Given the description of an element on the screen output the (x, y) to click on. 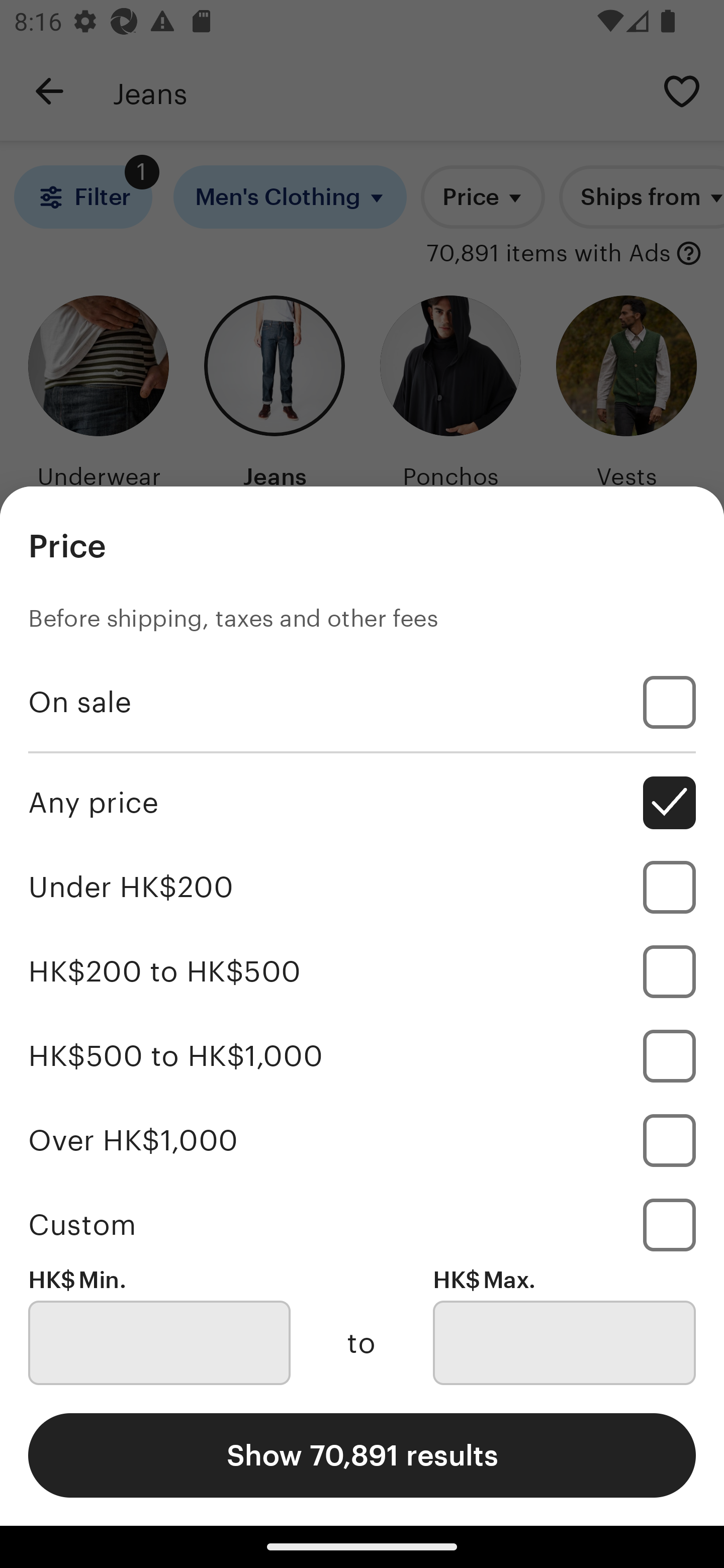
On sale (362, 702)
Any price (362, 802)
Under HK$200 (362, 887)
HK$200 to HK$500 (362, 970)
HK$500 to HK$1,000 (362, 1054)
Over HK$1,000 (362, 1139)
Custom (362, 1224)
Show 70,891 results (361, 1454)
